Given the description of an element on the screen output the (x, y) to click on. 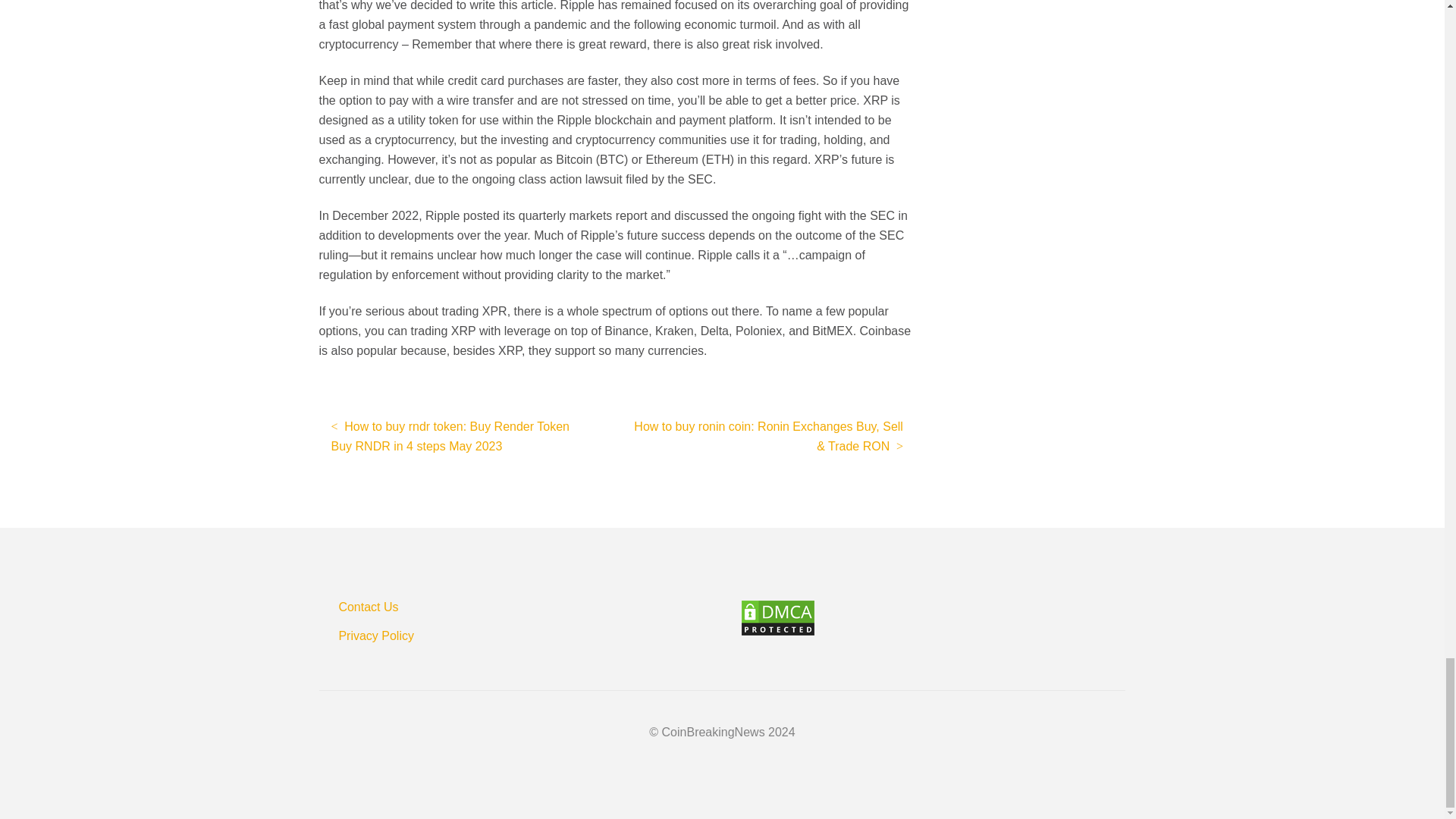
Content Protection by DMCA.com (932, 617)
Contact Us (367, 605)
Privacy Policy (375, 635)
